Given the description of an element on the screen output the (x, y) to click on. 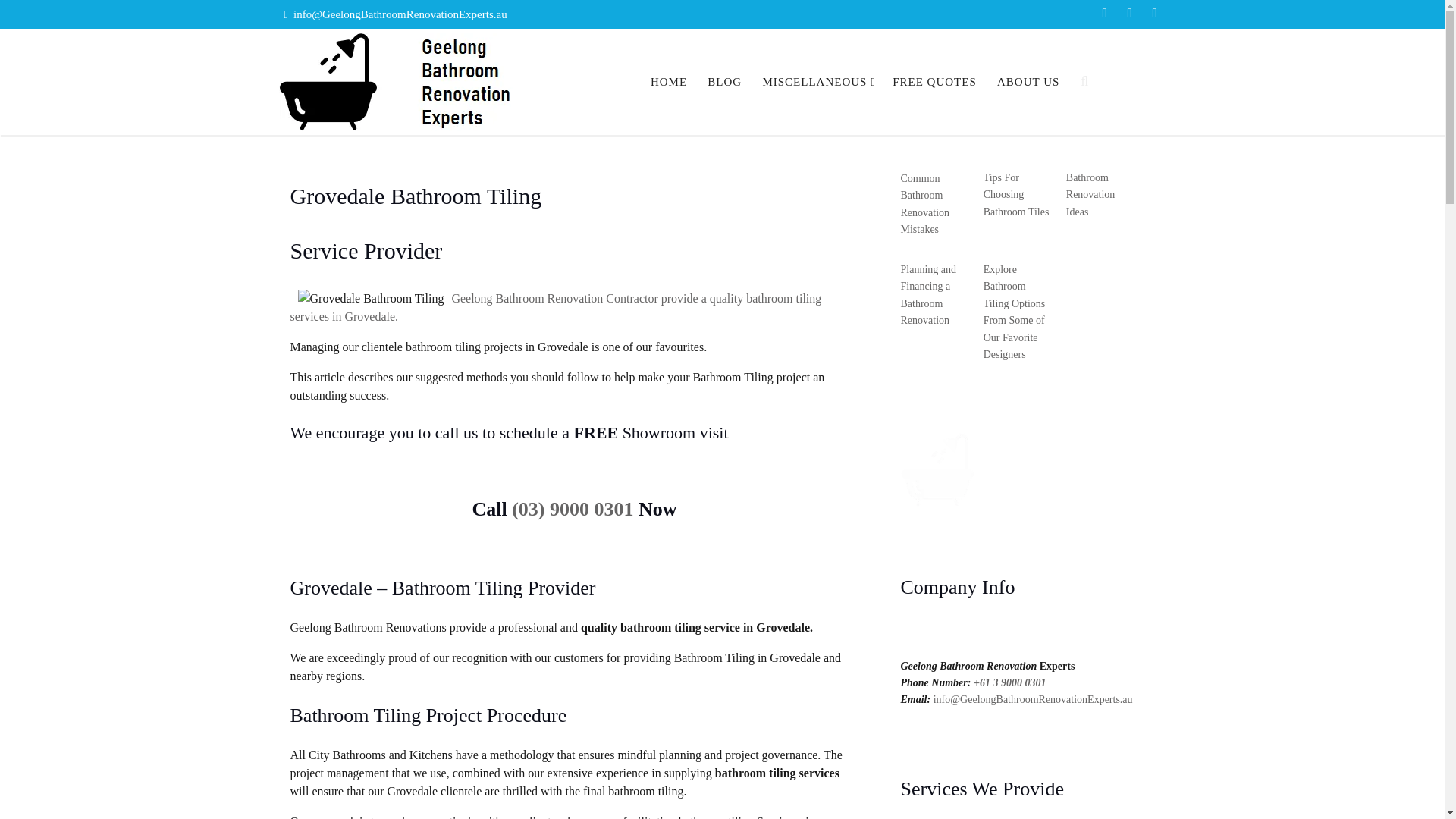
FREE QUOTES (934, 81)
MISCELLANEOUS (817, 81)
Pinterest (1153, 14)
Twitter (1129, 14)
ABOUT US (1028, 81)
Planning and Financing a Bathroom Renovation (928, 294)
Bathroom Renovation Ideas (1090, 194)
BLOG (723, 81)
HOME (668, 81)
Tips For Choosing Bathroom Tiles (1016, 194)
Facebook (1104, 14)
